Given the description of an element on the screen output the (x, y) to click on. 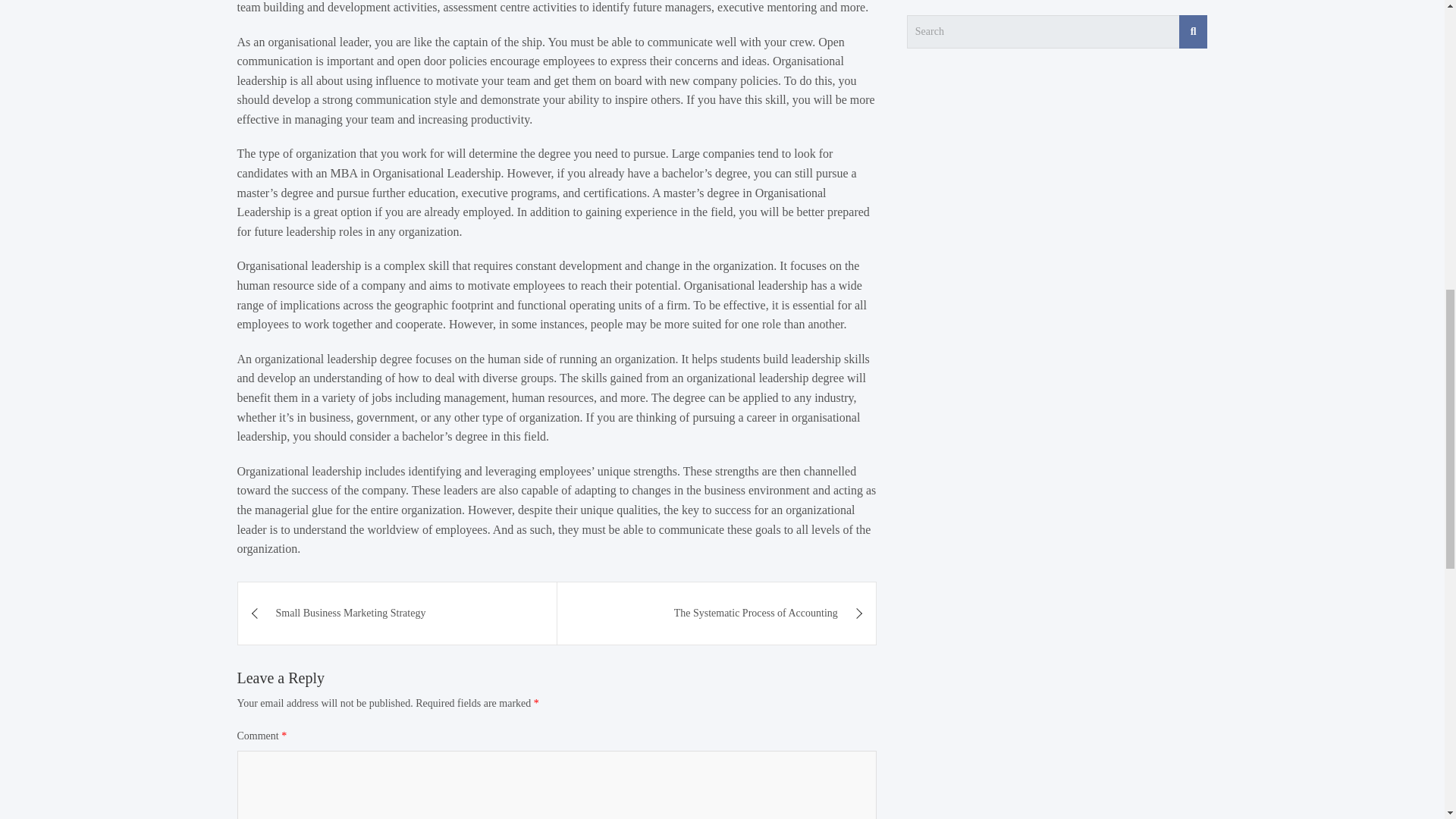
Small Business Marketing Strategy (397, 613)
The Systematic Process of Accounting (716, 613)
